Given the description of an element on the screen output the (x, y) to click on. 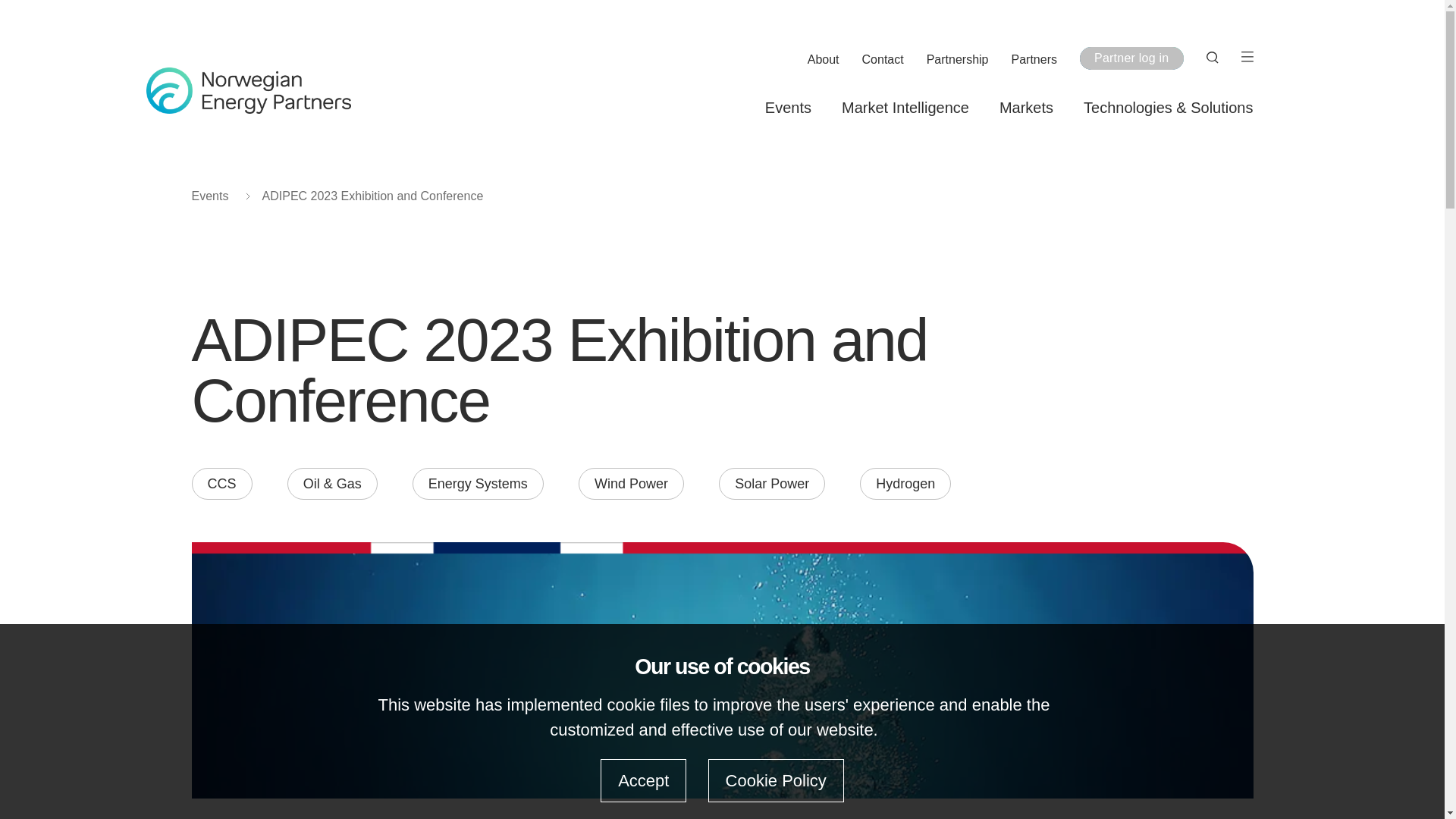
Contact (882, 60)
Events (787, 107)
Partnership (957, 60)
Markets (1025, 107)
About (824, 60)
Partner log in (1131, 57)
Market Intelligence (905, 107)
Partners (1034, 60)
